Given the description of an element on the screen output the (x, y) to click on. 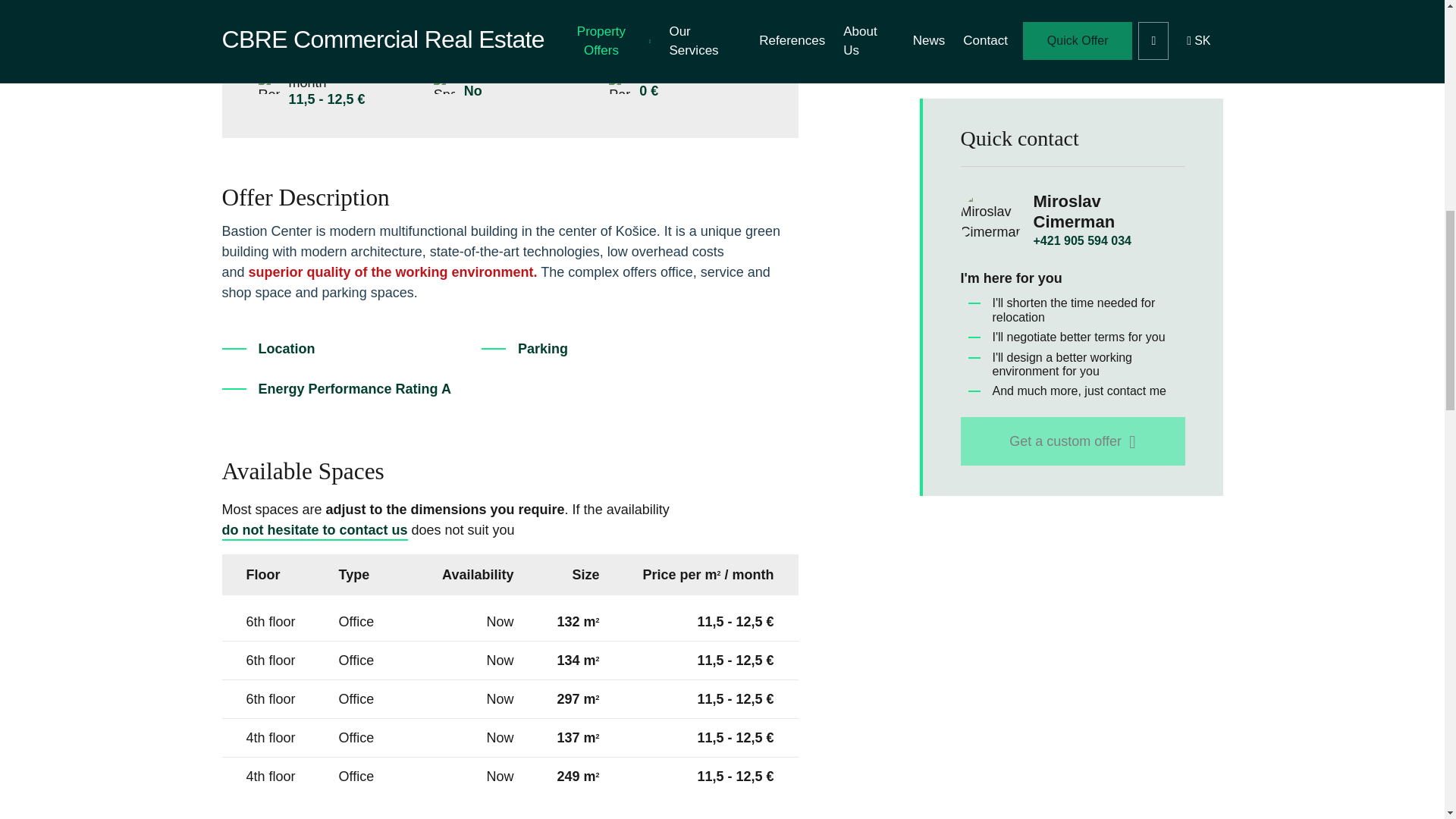
superior quality of the working environment. (392, 272)
Get a custom offer (1072, 239)
do not hesitate to contact us (314, 530)
